Given the description of an element on the screen output the (x, y) to click on. 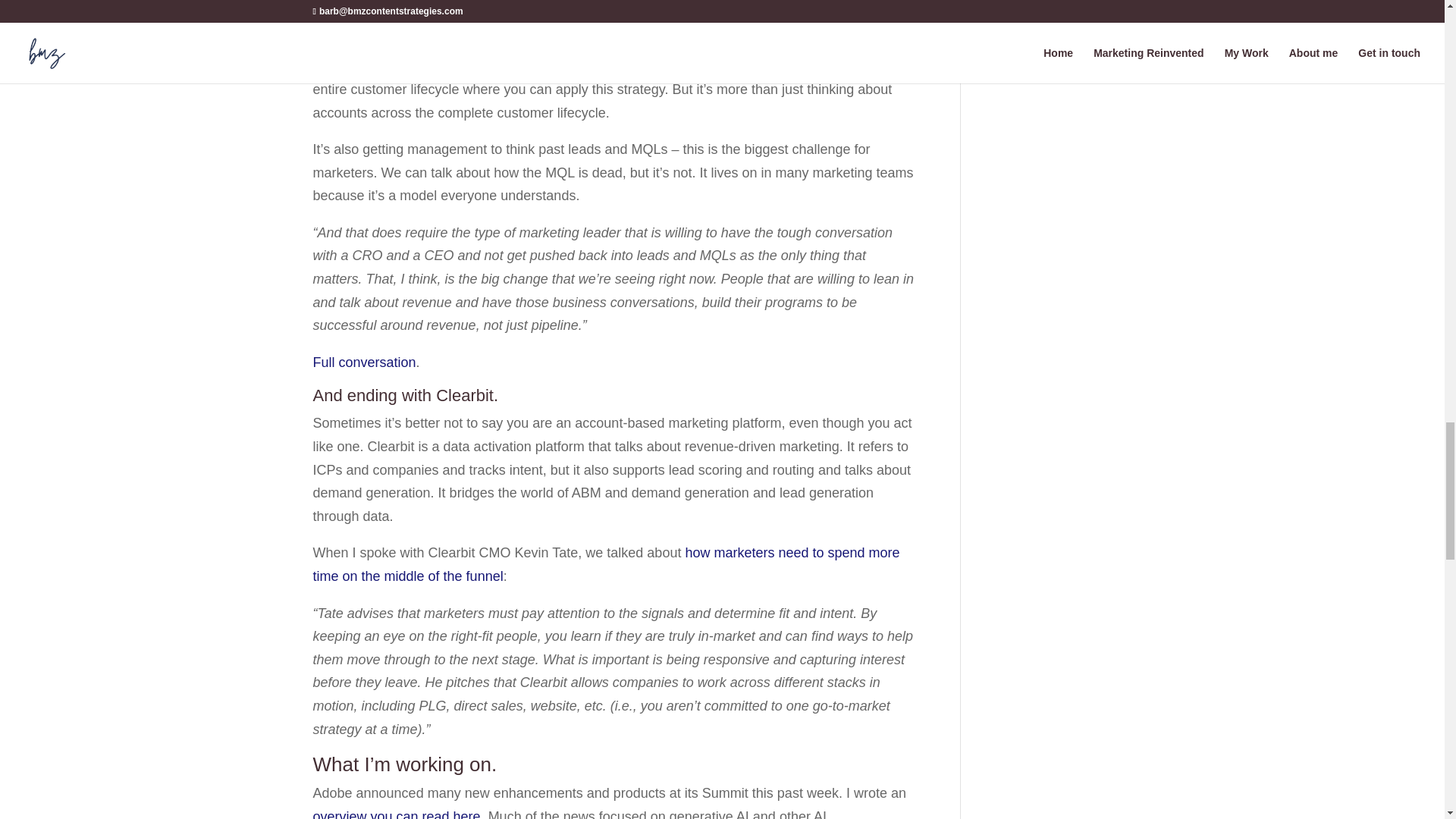
Full conversation (363, 362)
account-based marketing is at an inflection point (756, 19)
overview you can read here (396, 814)
